Given the description of an element on the screen output the (x, y) to click on. 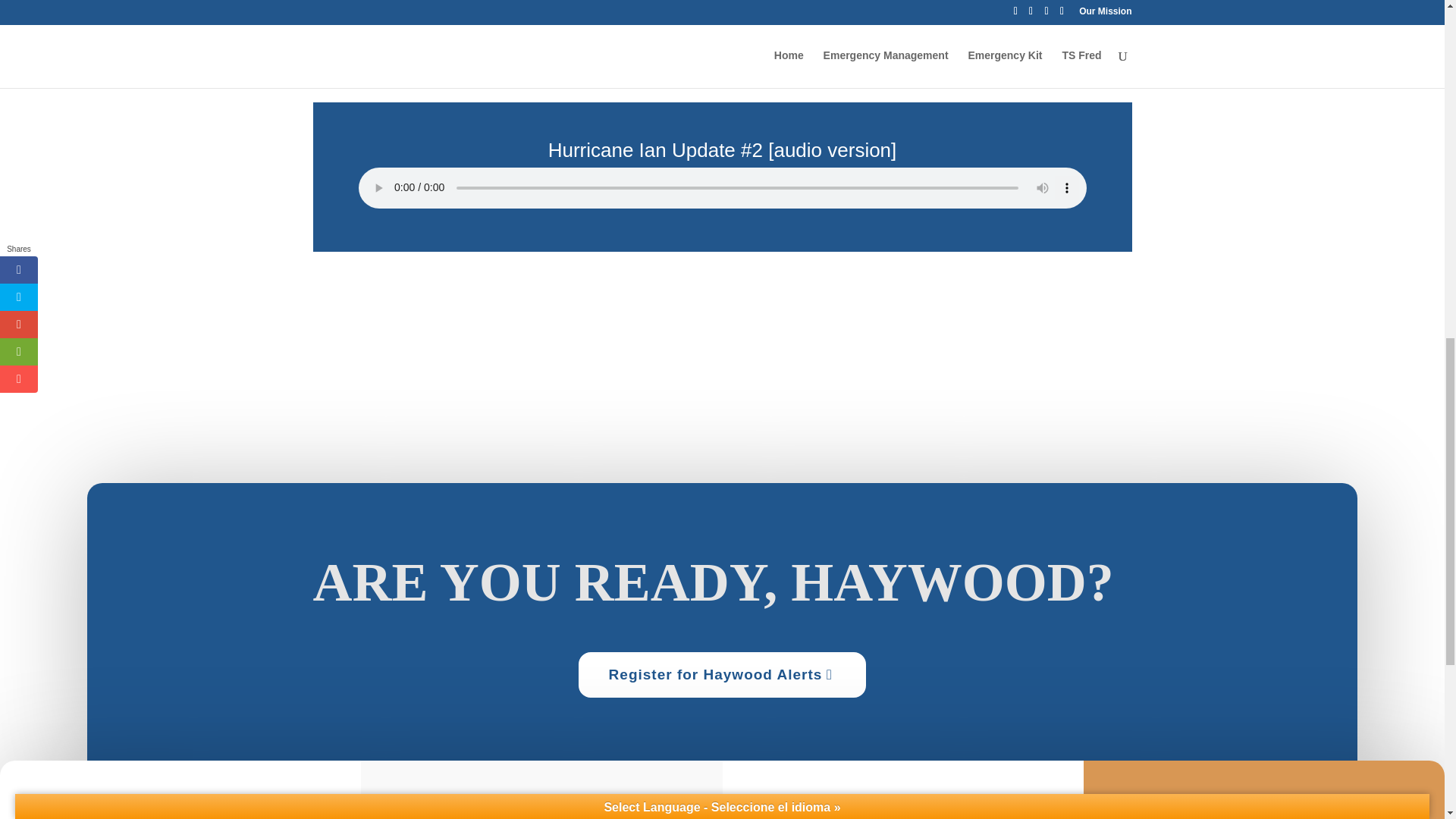
Follow on Instagram (1283, 816)
Follow on Facebook (1204, 816)
Follow on Youtube (1322, 816)
Follow on Twitter (1243, 816)
Register for Haywood Alerts (721, 674)
